Given the description of an element on the screen output the (x, y) to click on. 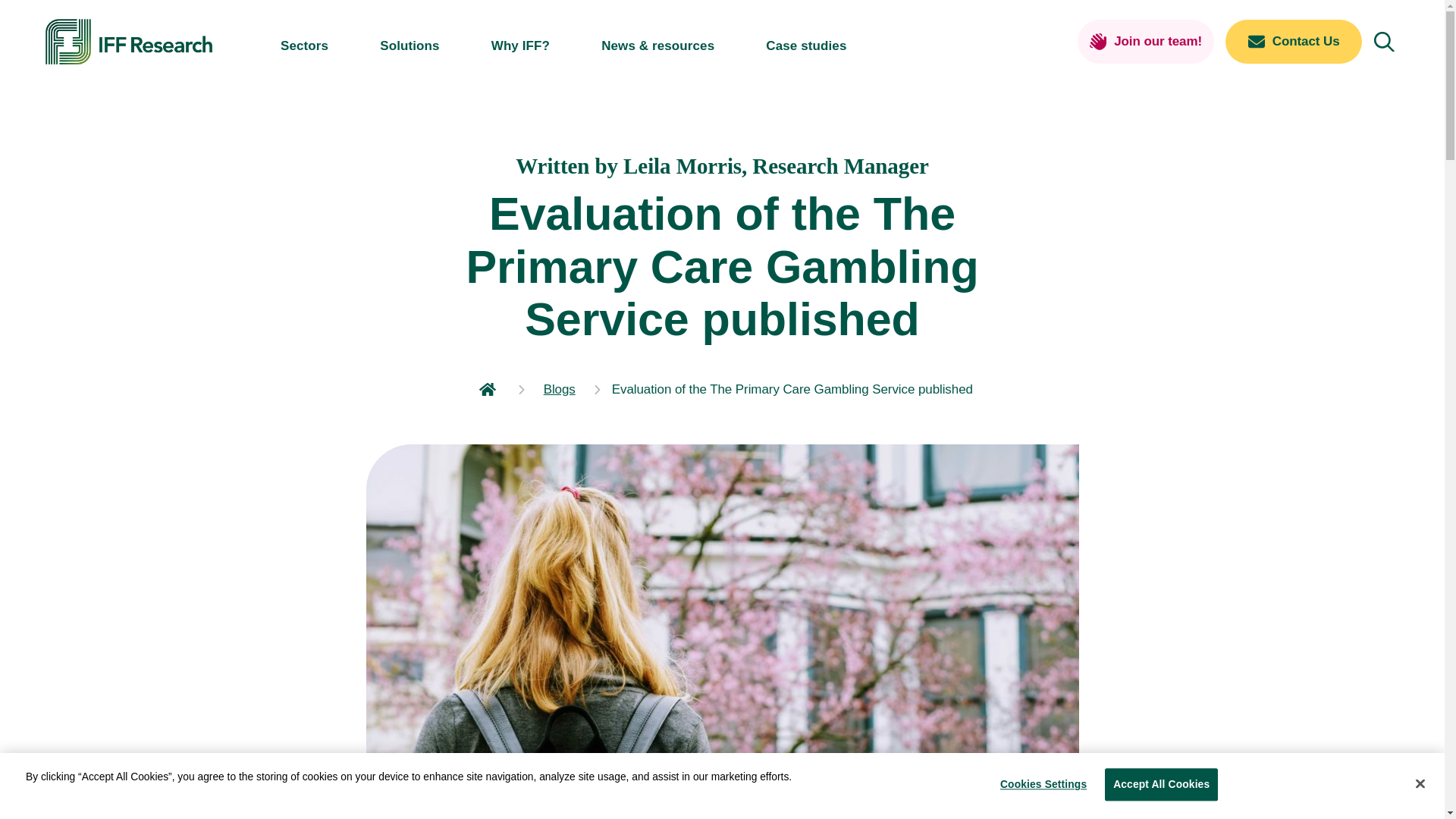
Go to (559, 389)
Go to (489, 389)
Sectors (305, 46)
